Given the description of an element on the screen output the (x, y) to click on. 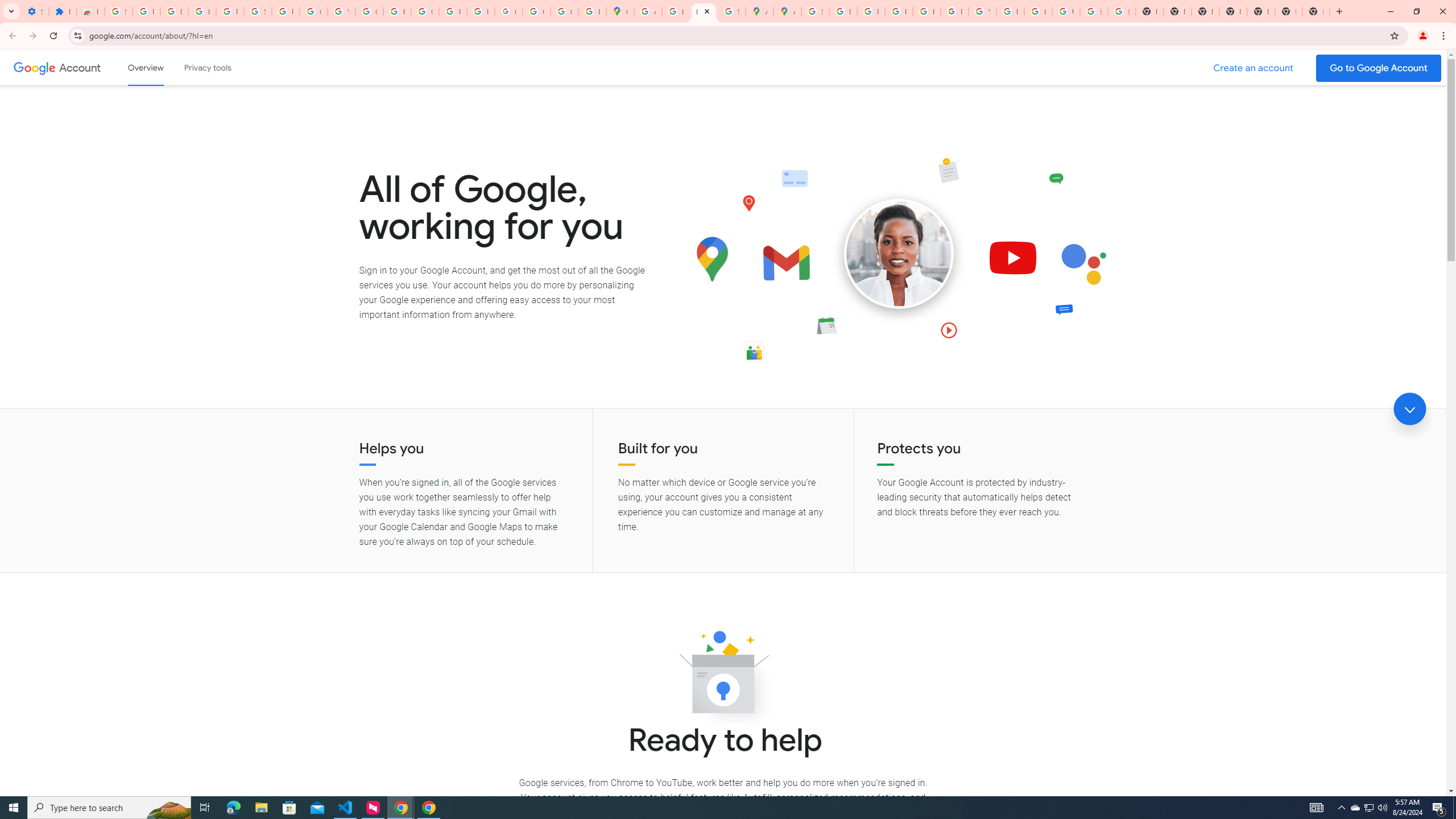
YouTube (982, 11)
Google Account (80, 67)
